Given the description of an element on the screen output the (x, y) to click on. 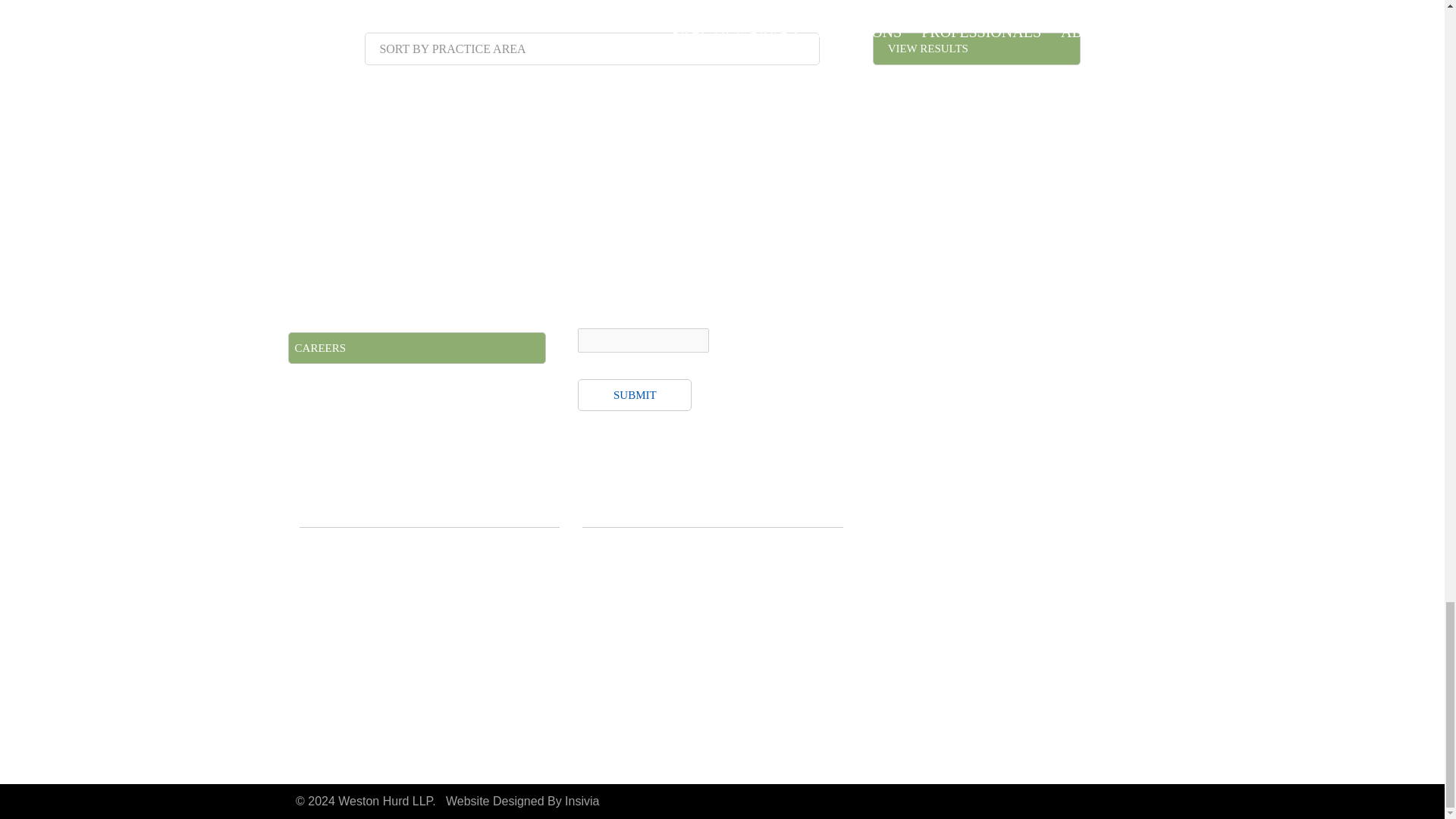
Submit (634, 395)
Careers (417, 347)
VIEW RESULTS (976, 49)
